Given the description of an element on the screen output the (x, y) to click on. 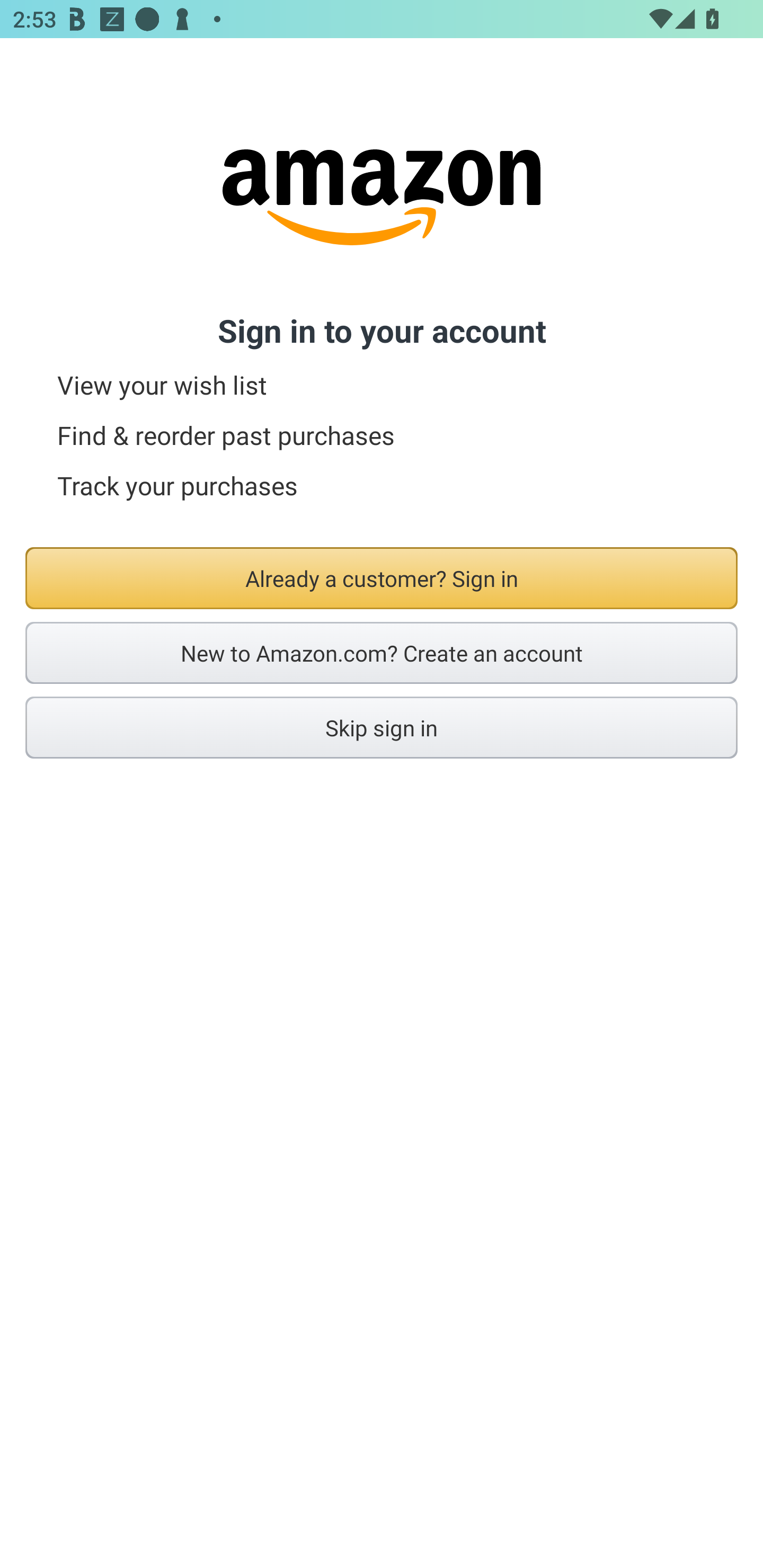
Already a customer? Sign in (381, 578)
New to Amazon.com? Create an account (381, 652)
Skip sign in (381, 727)
